Given the description of an element on the screen output the (x, y) to click on. 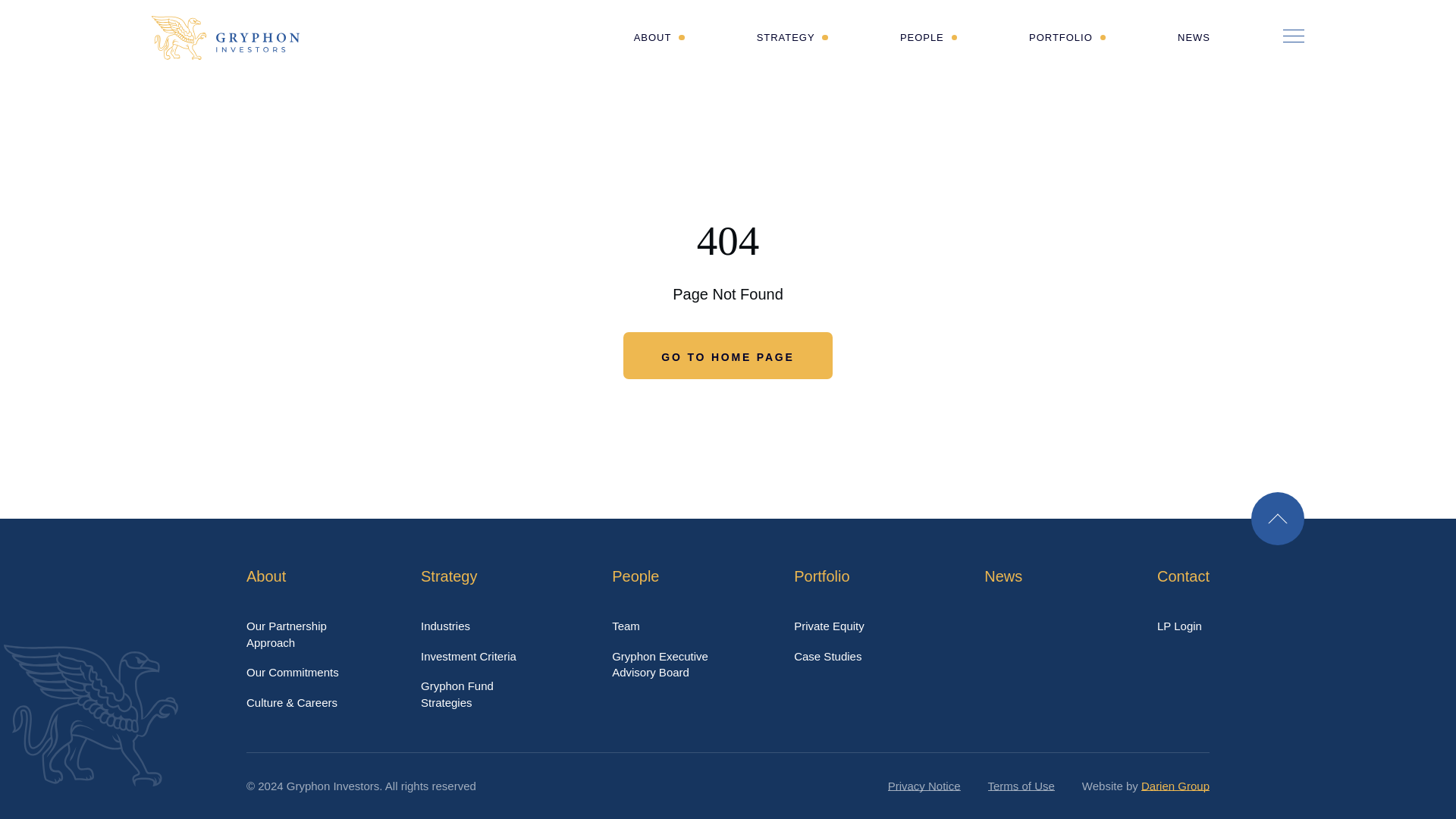
News (1003, 576)
Contact (659, 664)
Investment Criteria (1183, 576)
Privacy Notice (468, 656)
Terms of Use (924, 785)
ABOUT (1020, 785)
Private Equity (658, 37)
NEWS (828, 625)
LP Login (1193, 37)
Industries (1179, 625)
STRATEGY (445, 625)
PEOPLE (792, 37)
GO TO HOME PAGE (456, 693)
